Given the description of an element on the screen output the (x, y) to click on. 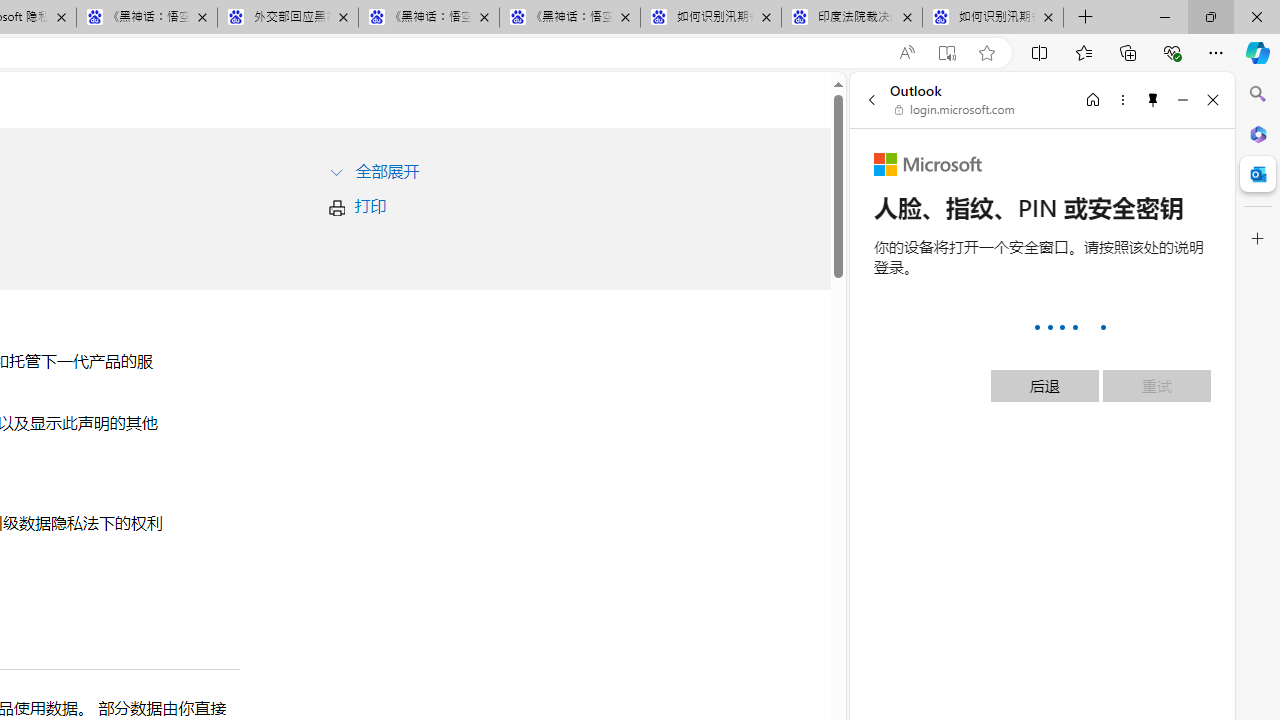
login.microsoft.com (955, 110)
